Given the description of an element on the screen output the (x, y) to click on. 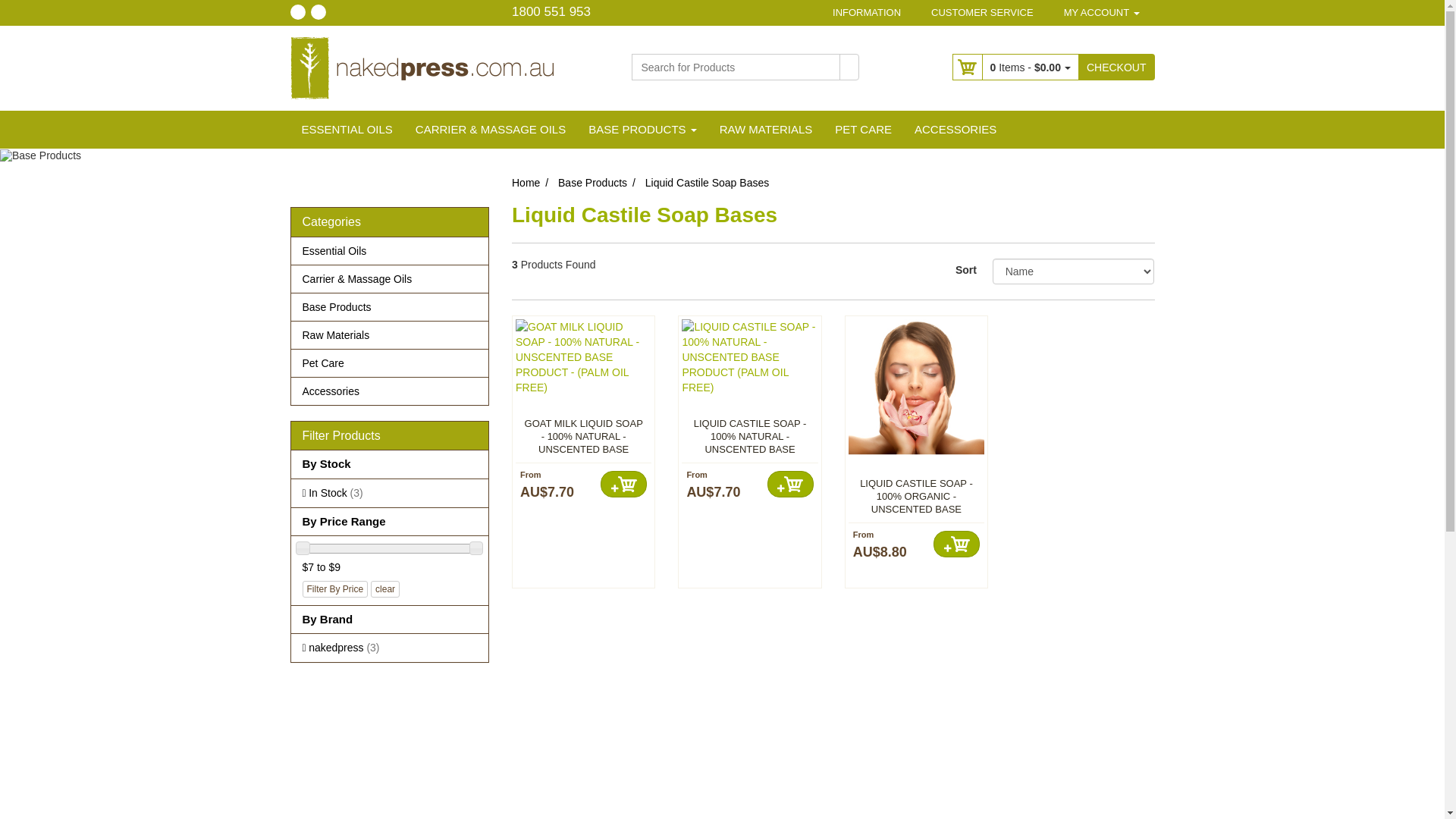
Add to Cart Element type: hover (790, 483)
Home Element type: text (525, 182)
Pet Care Element type: text (390, 362)
CHECKOUT Element type: text (1116, 66)
Base Products Element type: text (390, 306)
Essential Oils Element type: text (390, 250)
ACCESSORIES Element type: text (955, 129)
Add to Cart Element type: hover (623, 483)
NakedPress.com.au Element type: hover (420, 67)
Filter By Price Element type: text (334, 588)
RAW MATERIALS Element type: text (766, 129)
INFORMATION Element type: text (866, 12)
Carrier & Massage Oils Element type: text (390, 278)
CUSTOMER SERVICE Element type: text (981, 12)
Liquid Castile Soap Bases Element type: text (706, 182)
0 Items - $0.00 Element type: text (1022, 66)
Search Element type: text (848, 66)
nakedpress (3) Element type: text (390, 647)
BASE PRODUCTS Element type: text (642, 129)
Add to Cart Element type: hover (956, 543)
Filter Products Element type: text (390, 435)
CARRIER & MASSAGE OILS Element type: text (490, 129)
Accessories Element type: text (390, 390)
MY ACCOUNT Element type: text (1101, 12)
clear Element type: text (384, 588)
PET CARE Element type: text (863, 129)
In Stock (3) Element type: text (390, 492)
Base Products Element type: text (592, 182)
Raw Materials Element type: text (390, 334)
ESSENTIAL OILS Element type: text (346, 129)
